Given the description of an element on the screen output the (x, y) to click on. 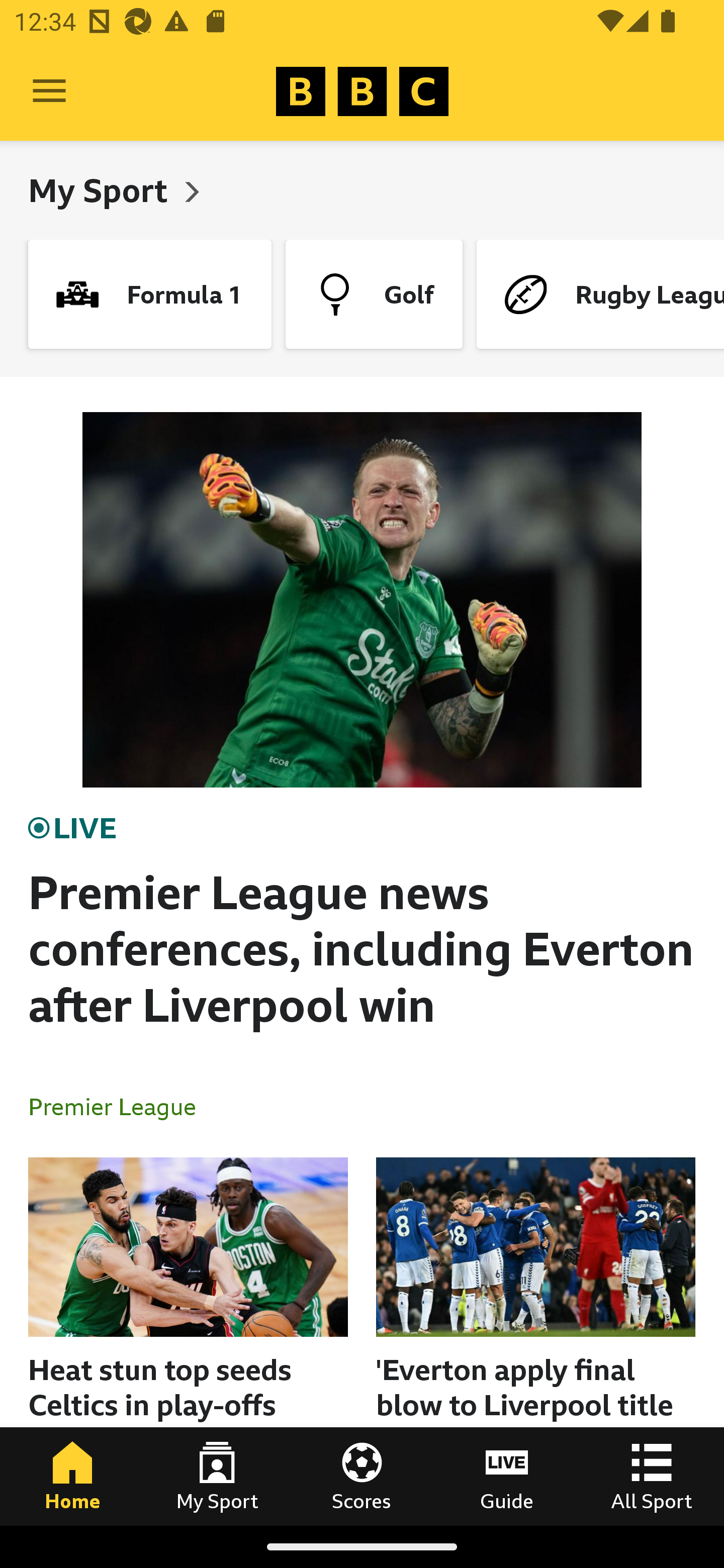
Open Menu (49, 91)
My Sport (101, 190)
Premier League In the section Premier League (119, 1106)
My Sport (216, 1475)
Scores (361, 1475)
Guide (506, 1475)
All Sport (651, 1475)
